Given the description of an element on the screen output the (x, y) to click on. 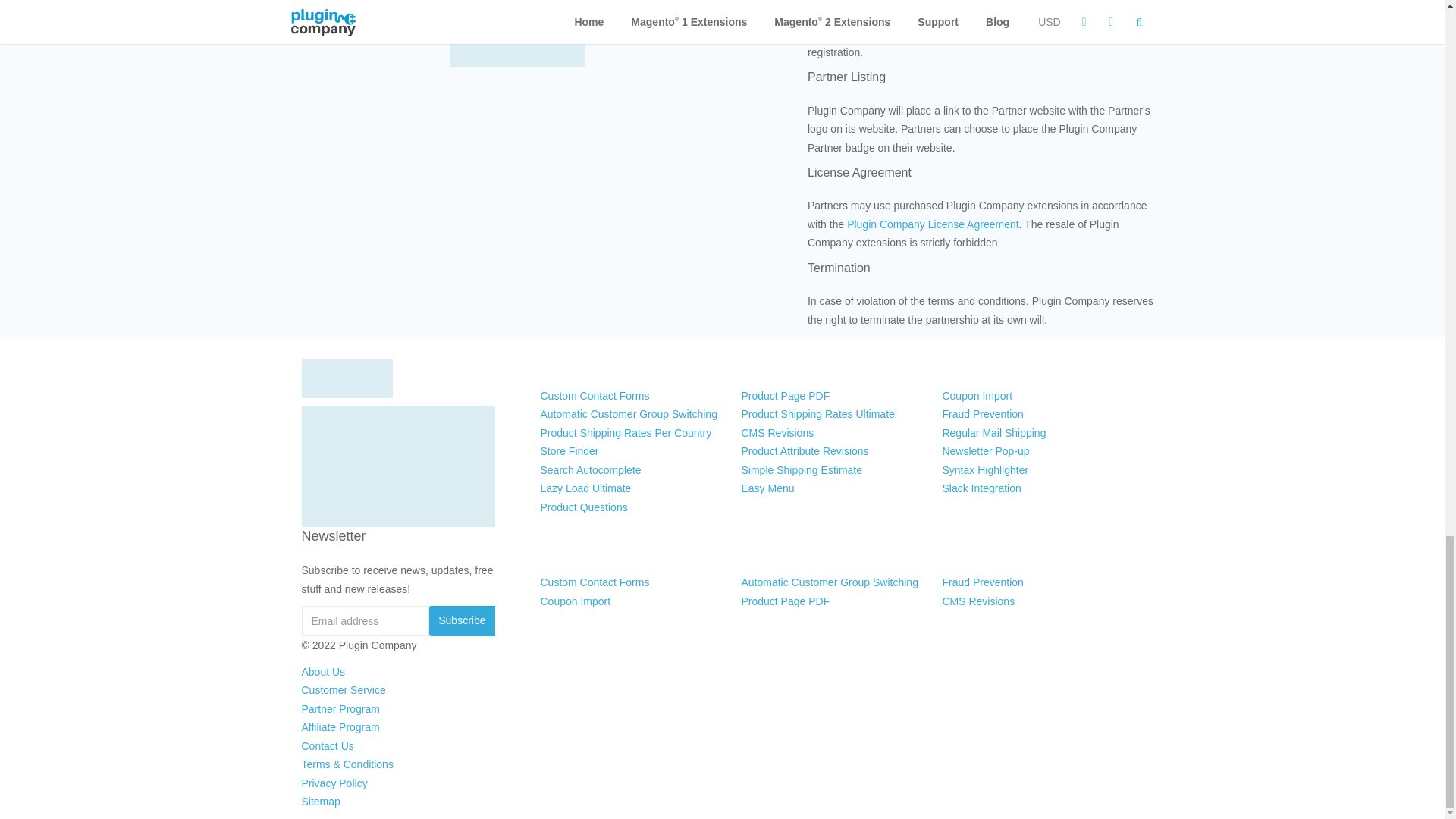
Coupon Import Magento Extension (976, 395)
Easy Menu Magento Extension (767, 488)
Product Questions Magento Extension (583, 507)
Automatic Customer Group Switching Magento Extension (628, 413)
Custom Contact Forms Magento Extension (594, 395)
Search Autocomplete Magento Extension (590, 469)
Fraud Prevention Magento Extension (982, 413)
Store Finder Magento Extension (569, 451)
Product Shipping Rates Per Country Magento Extension (625, 432)
Product Page PDF Magento Extension (785, 395)
Simple Shipping Estimate Magento Extension (801, 469)
Product Attribute Revisions Magento Extension (804, 451)
Product Shipping Rates Ultimate Magento Extension (817, 413)
CMS Revisions Magento Extension (777, 432)
Lazy Load Ultimate Magento Extension (585, 488)
